Given the description of an element on the screen output the (x, y) to click on. 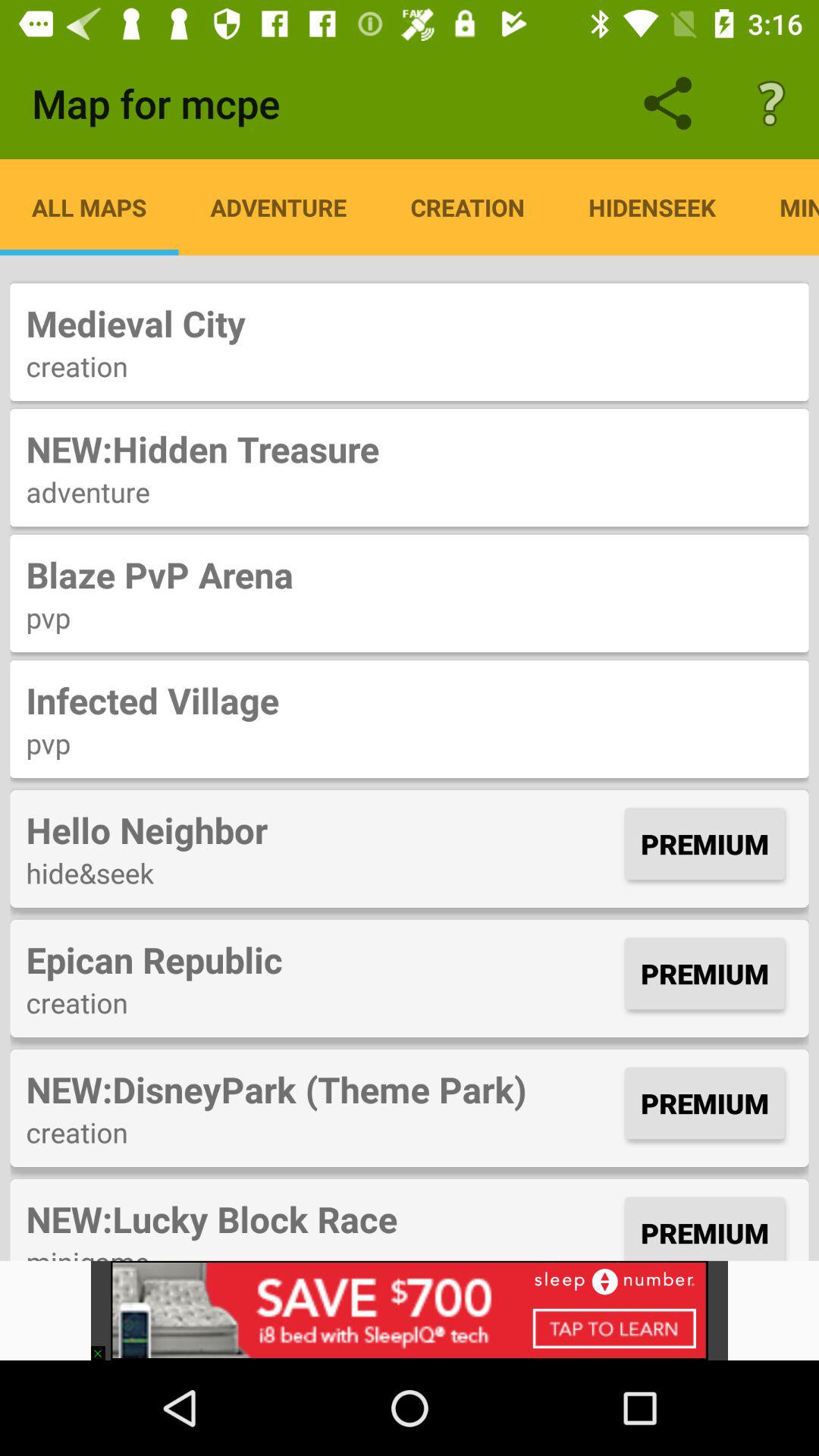
press the item next to the premium item (321, 959)
